Given the description of an element on the screen output the (x, y) to click on. 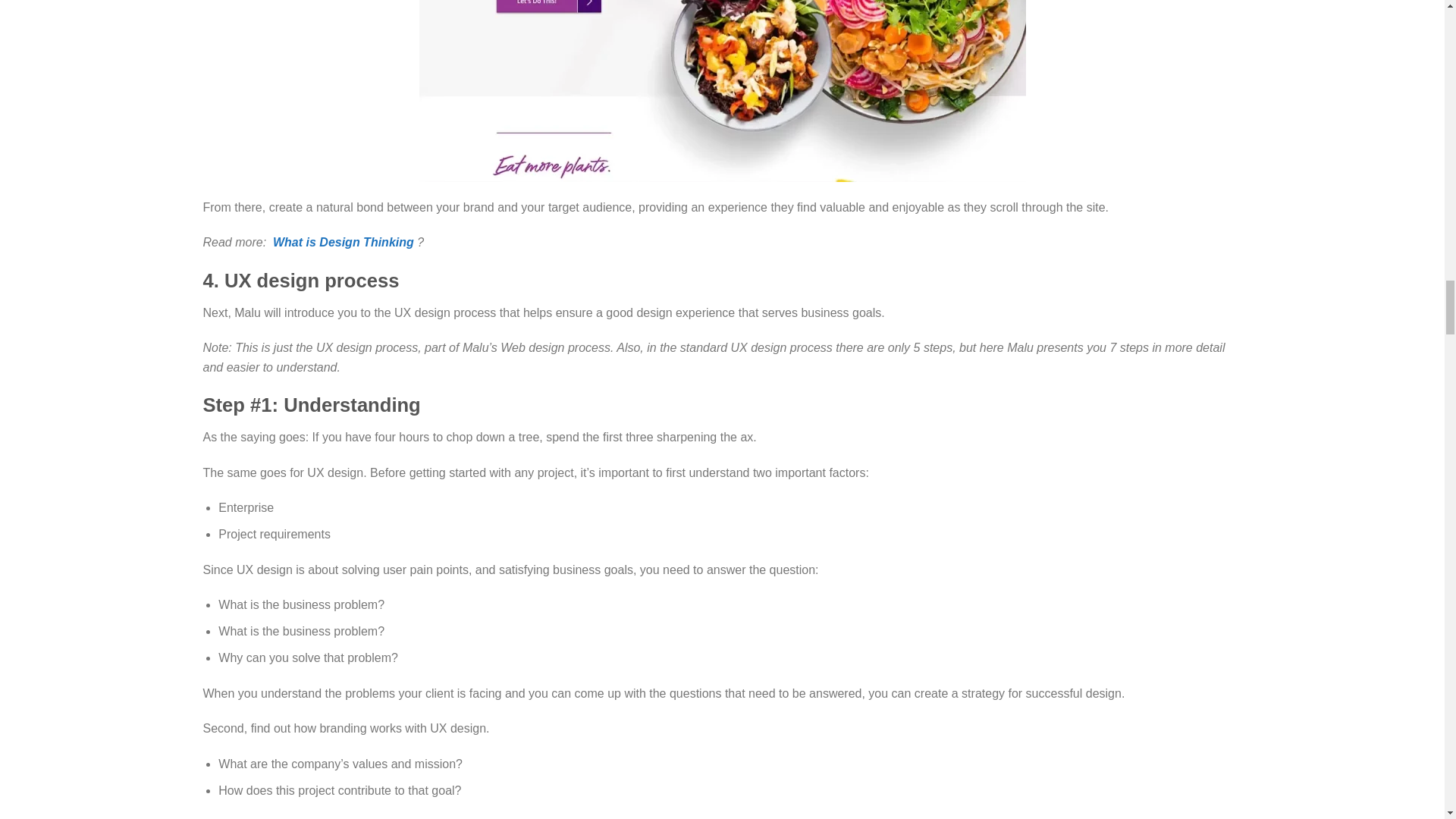
What is Design Thinking (343, 241)
